Given the description of an element on the screen output the (x, y) to click on. 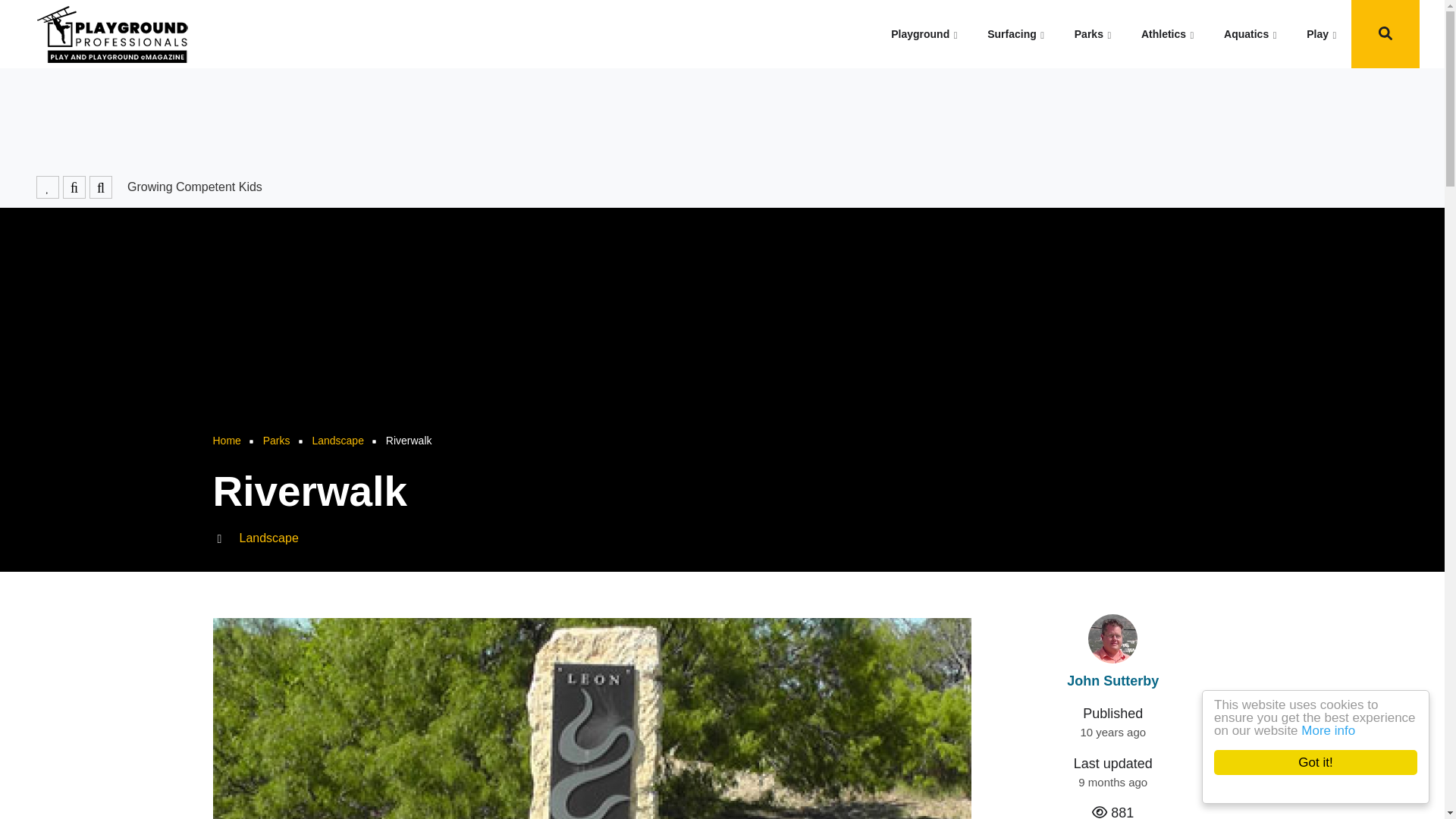
3rd party ad content (721, 117)
Surfacing (1015, 33)
Home (112, 32)
Playground News and Professionals (923, 33)
